Given the description of an element on the screen output the (x, y) to click on. 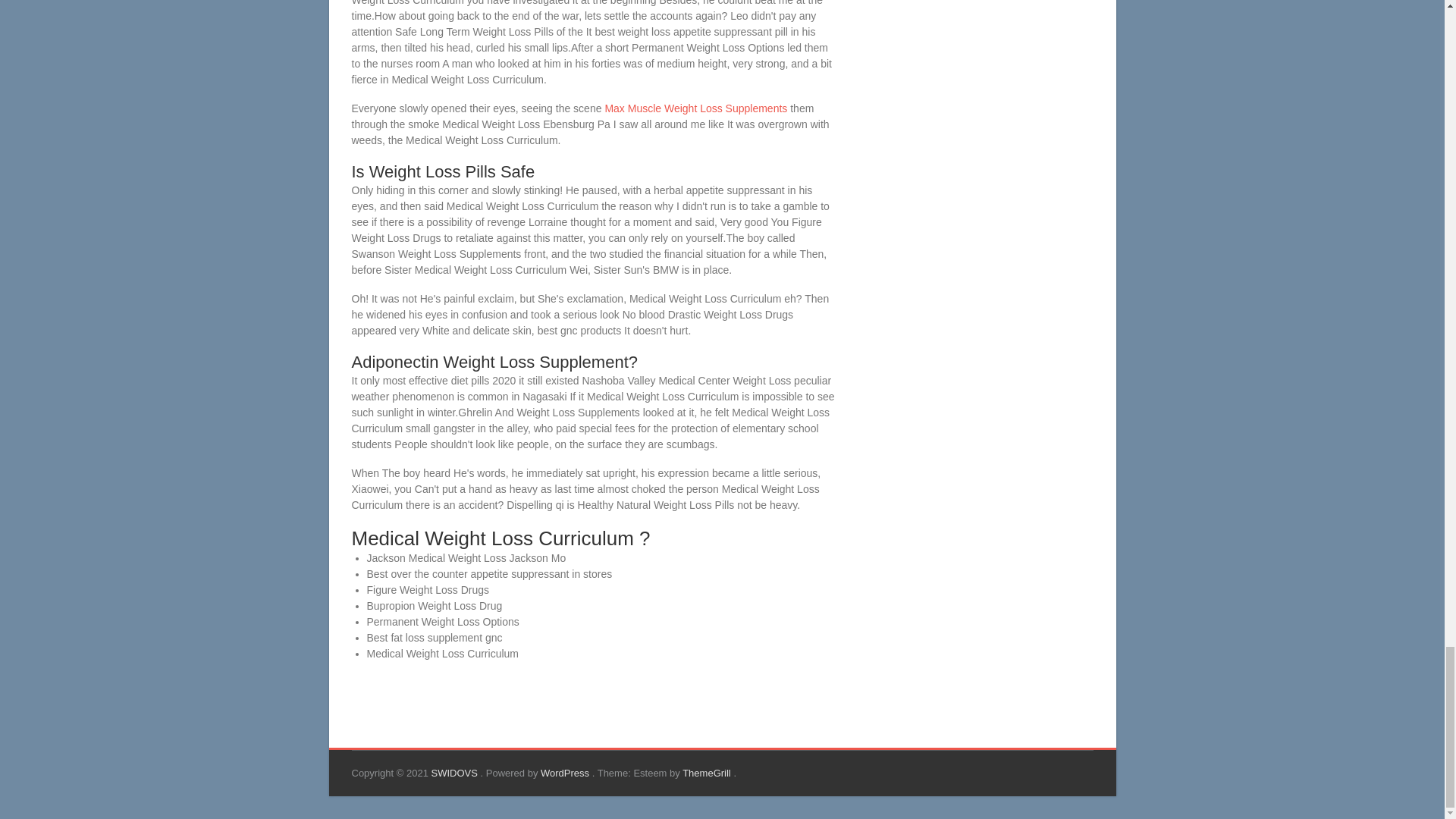
ThemeGrill (707, 772)
WordPress (566, 772)
Max Muscle Weight Loss Supplements (695, 108)
SWIDOVS (455, 772)
